Given the description of an element on the screen output the (x, y) to click on. 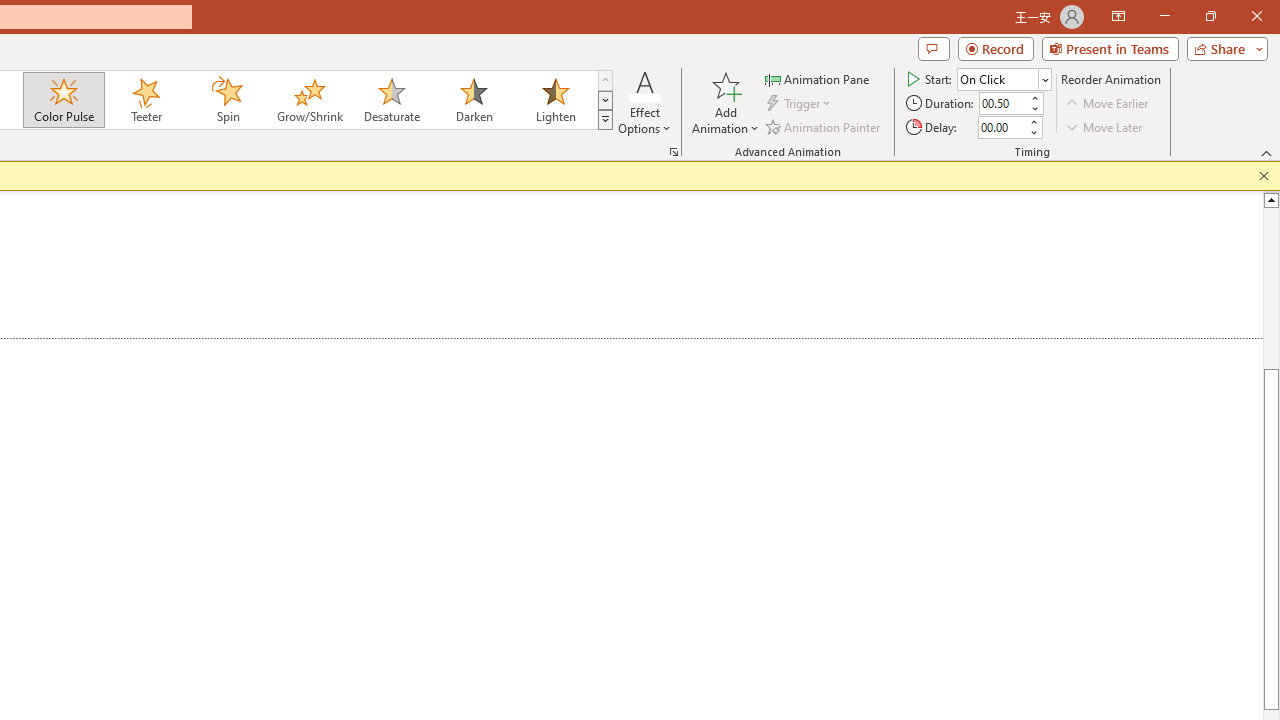
Add Animation (725, 102)
Move Earlier (1107, 103)
More Options... (673, 151)
